Given the description of an element on the screen output the (x, y) to click on. 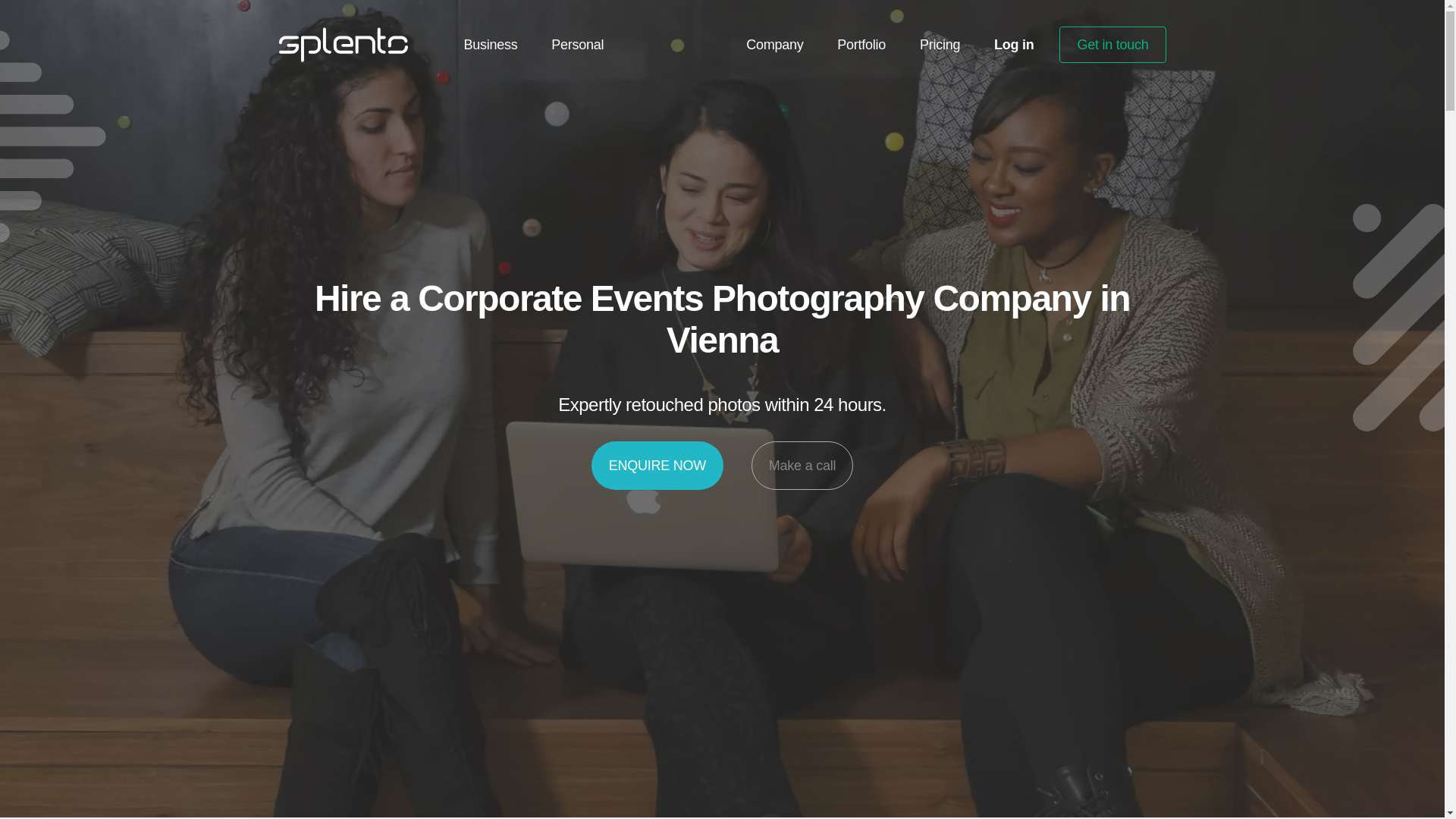
Make a call (802, 465)
Personal (577, 44)
Pricing (939, 44)
ENQUIRE NOW (657, 465)
Log in (1013, 44)
Portfolio (861, 44)
Company (774, 44)
Get in touch (1112, 44)
Business (491, 44)
